Given the description of an element on the screen output the (x, y) to click on. 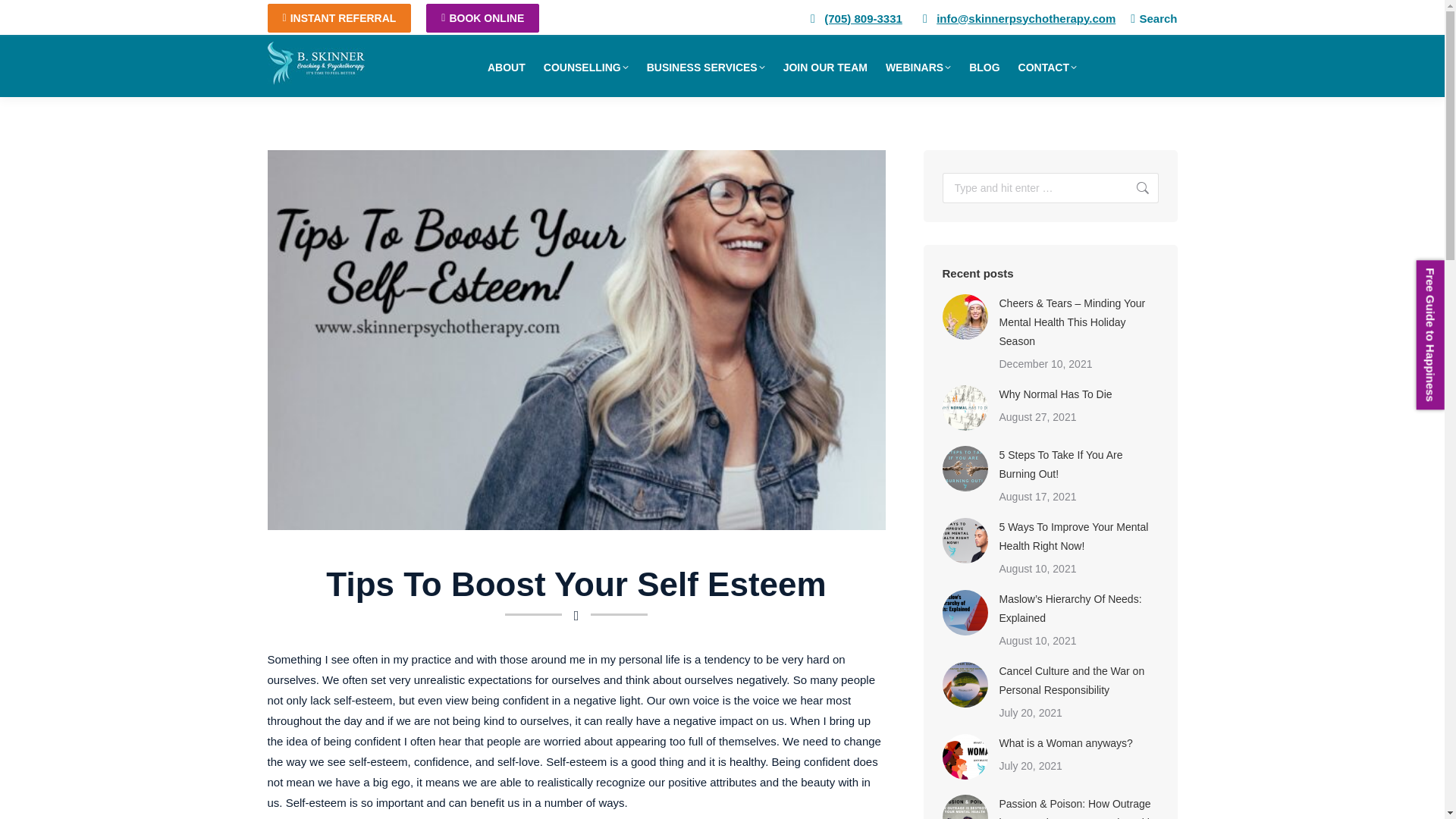
COUNSELLING (585, 66)
JOIN OUR TEAM (825, 66)
BUSINESS SERVICES (706, 66)
INSTANT REFERRAL (338, 18)
CONTACT (1047, 66)
Search (1153, 18)
Counselling Therapy (585, 66)
BLOG (983, 66)
Business Coaching (706, 66)
Go! (25, 19)
BOOK ONLINE (482, 18)
ABOUT (506, 66)
WEBINARS (917, 66)
